Given the description of an element on the screen output the (x, y) to click on. 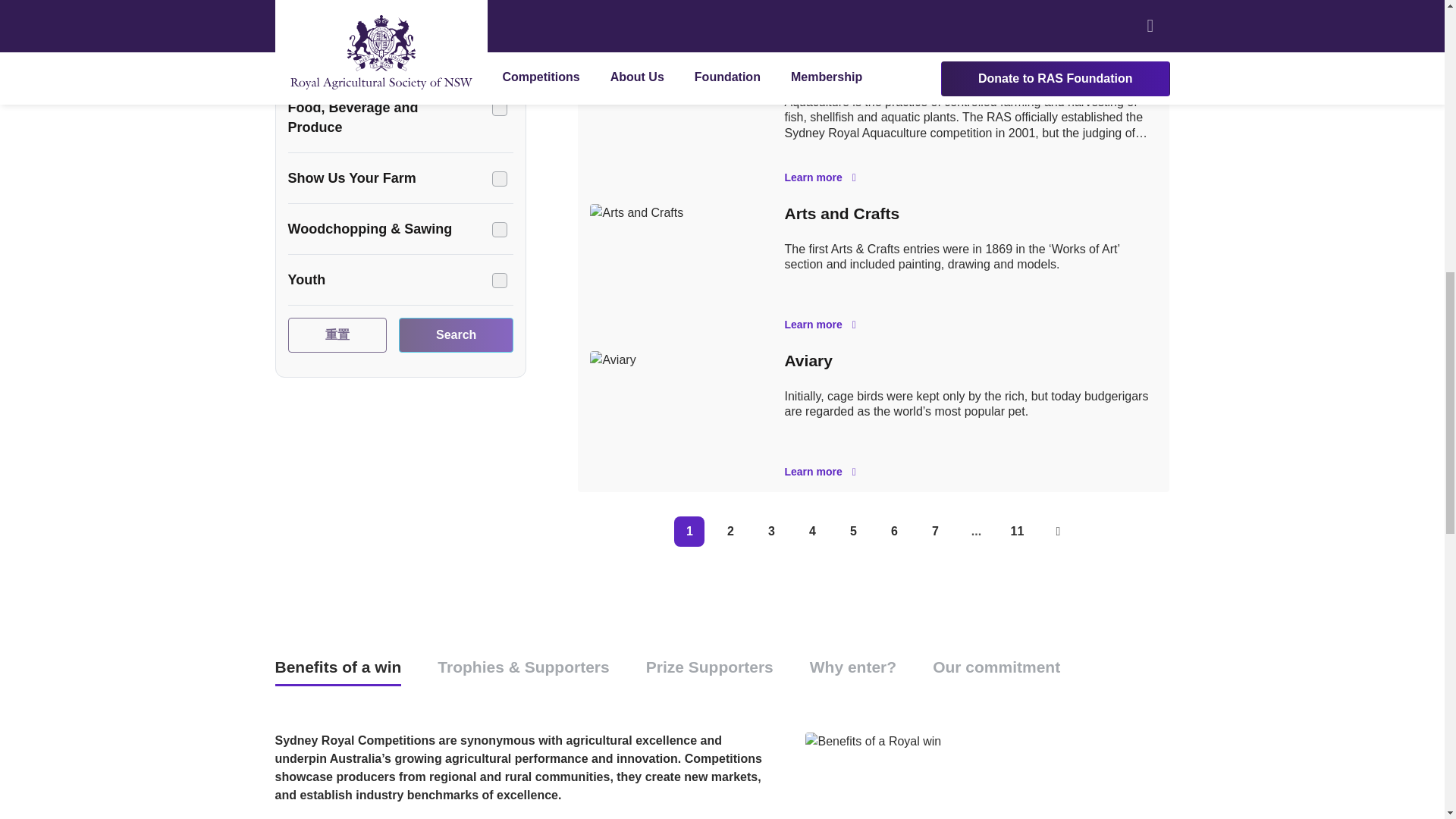
Learn more (970, 471)
5 (852, 531)
fad0ad64-3185-4e5b-9bc2-ca85afec10e0 (499, 57)
Arts and Crafts (841, 212)
Search (455, 334)
Learn more (970, 30)
6 (893, 531)
Food, Beverage and Produce (400, 117)
bbcb519b-b6d0-40d3-92c6-9877dcc76c01 (499, 229)
05039d09-b991-4543-b1ab-1a37536f9222 (499, 280)
